Given the description of an element on the screen output the (x, y) to click on. 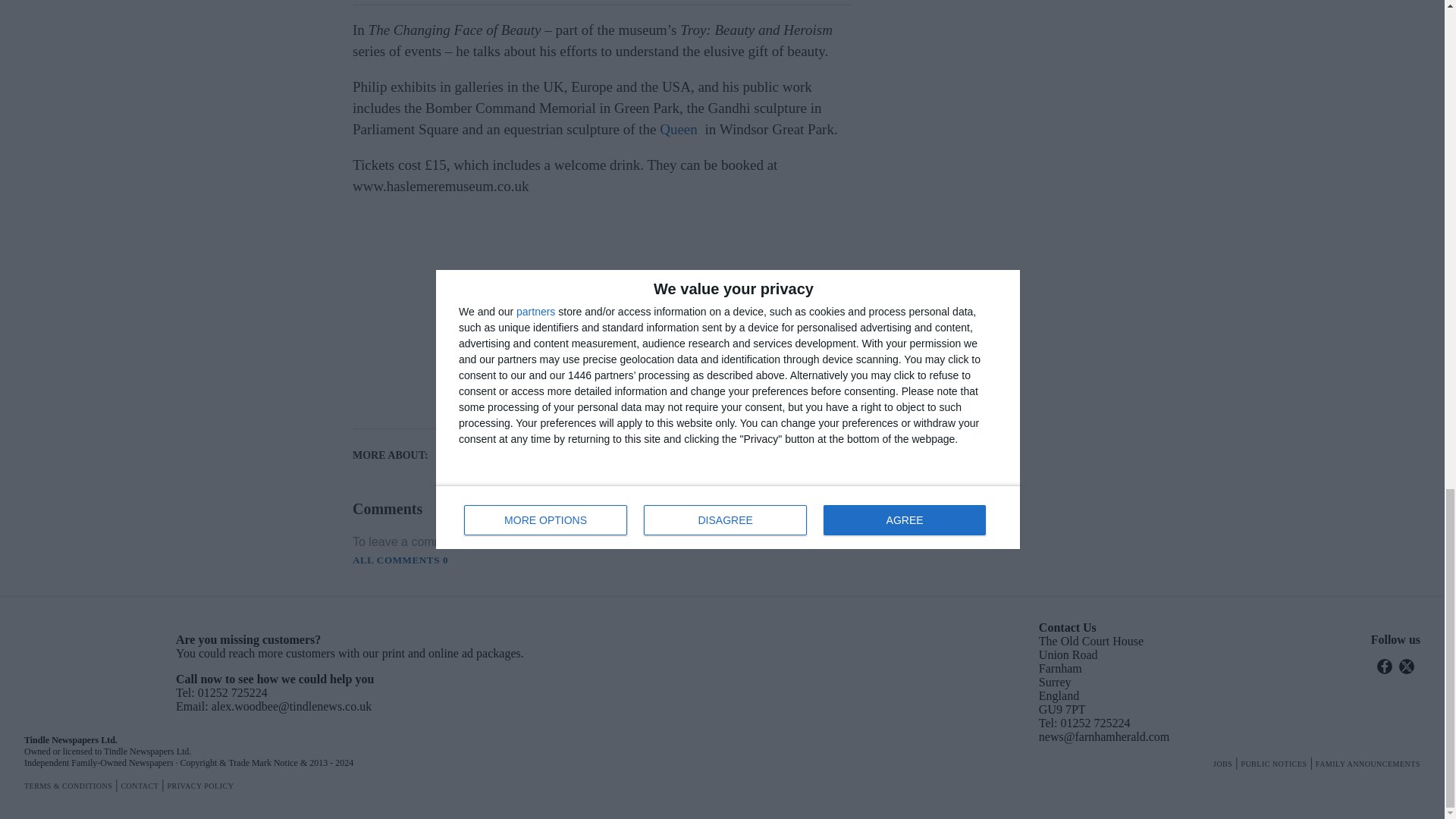
Queen (615, 455)
SIGNUP (706, 542)
Haslemere Museum (502, 455)
Queen (678, 129)
LOGIN (654, 542)
